Given the description of an element on the screen output the (x, y) to click on. 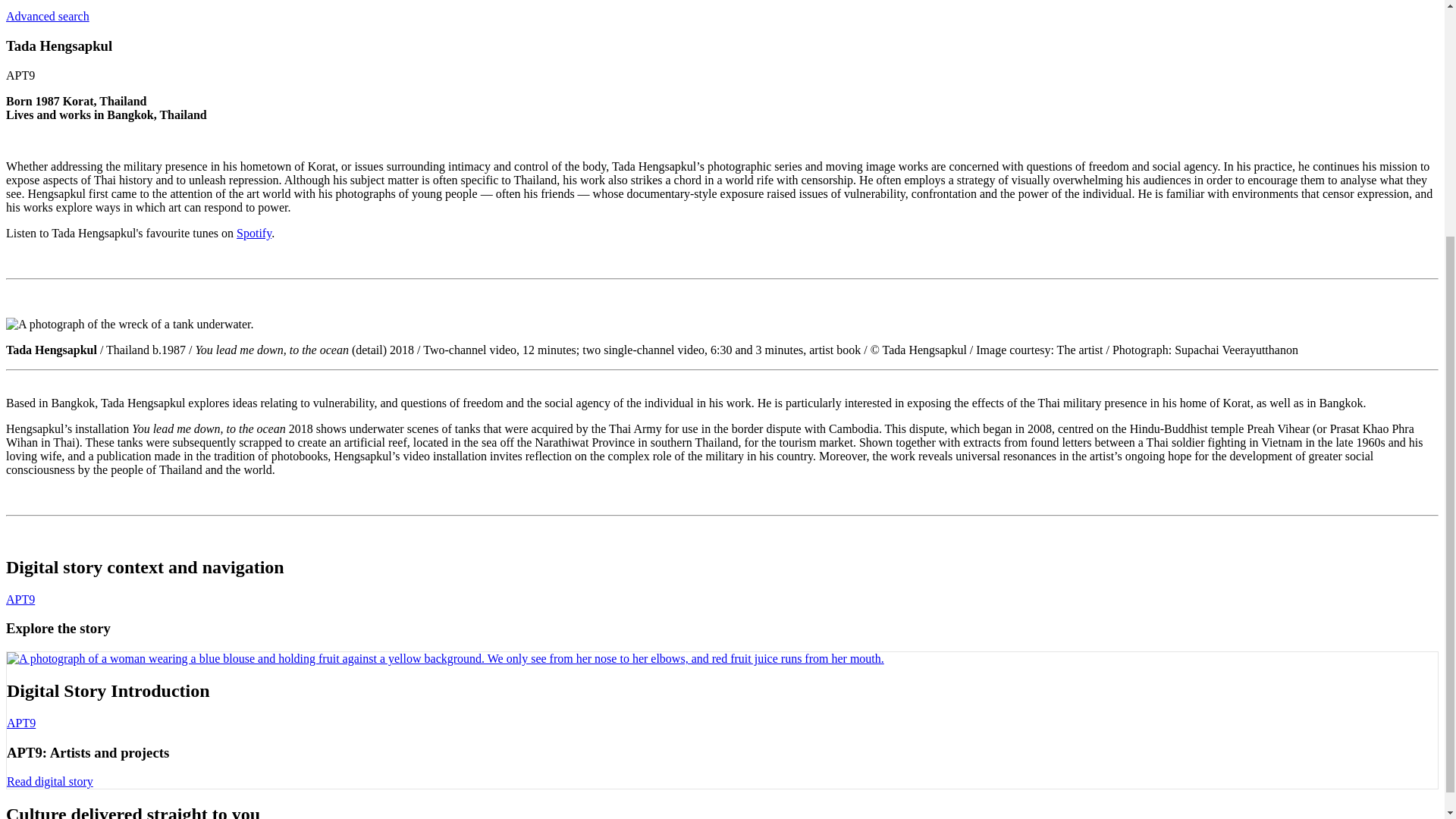
Read digital story (50, 780)
Advanced search (46, 15)
Spotify (252, 232)
View APT9: Artists and projects story page (50, 780)
APT9 (20, 722)
APT9 (19, 599)
